Given the description of an element on the screen output the (x, y) to click on. 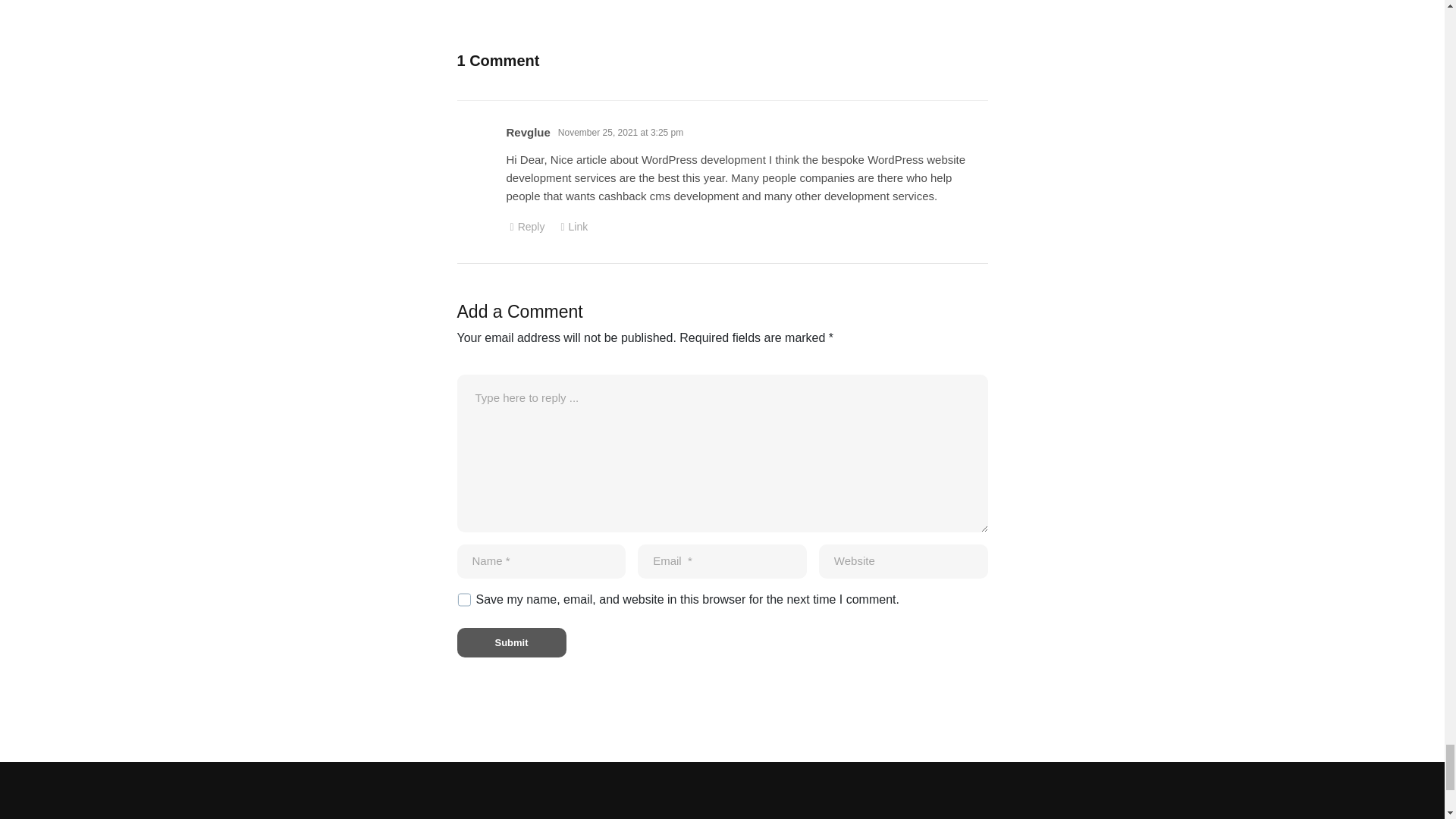
yes (462, 599)
